Given the description of an element on the screen output the (x, y) to click on. 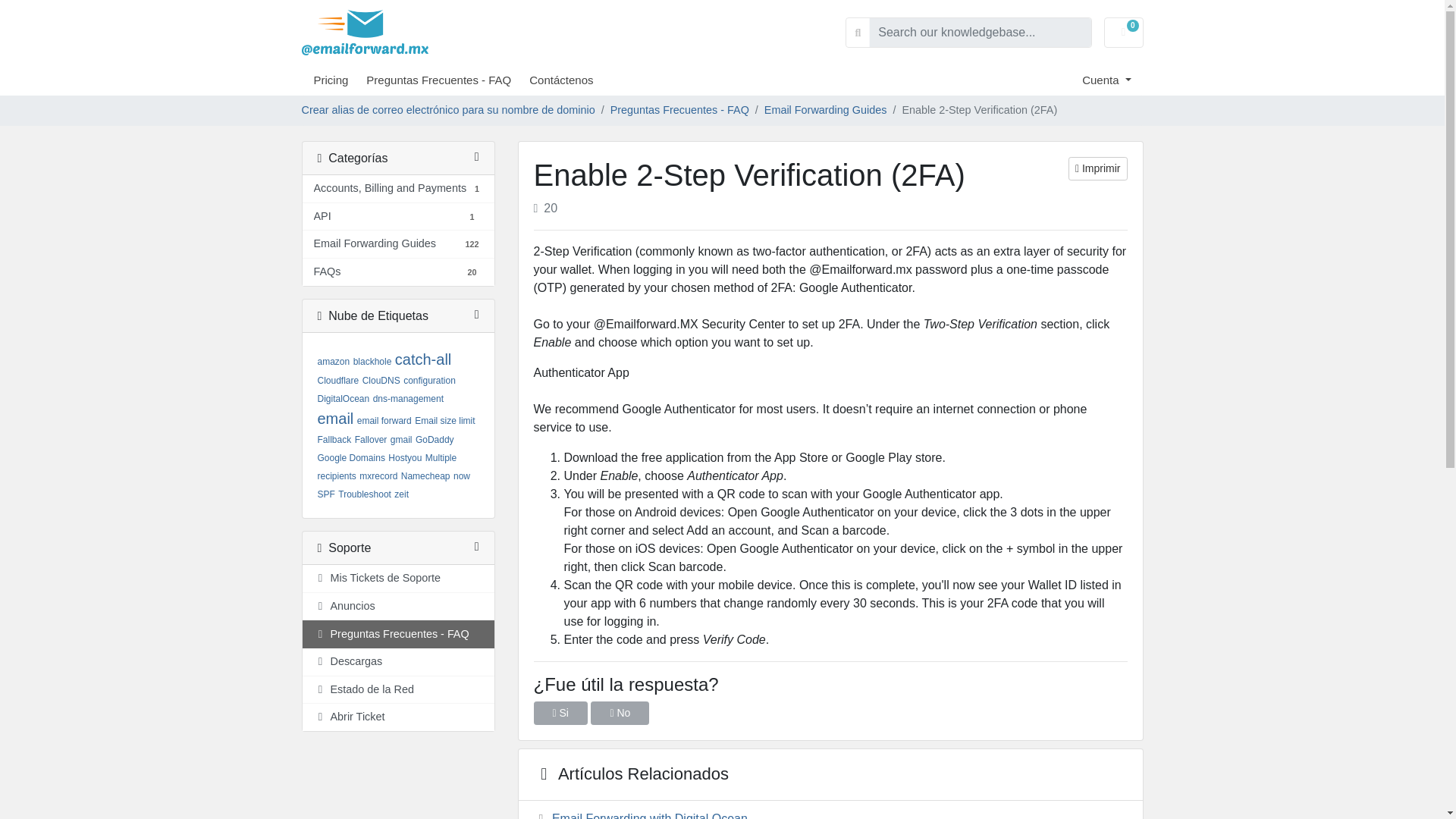
Preguntas Frecuentes - FAQ (447, 79)
email (397, 271)
mxrecord (335, 418)
blackhole (378, 475)
configuration (372, 361)
now (429, 380)
Fallback (461, 475)
DigitalOcean (397, 216)
